Given the description of an element on the screen output the (x, y) to click on. 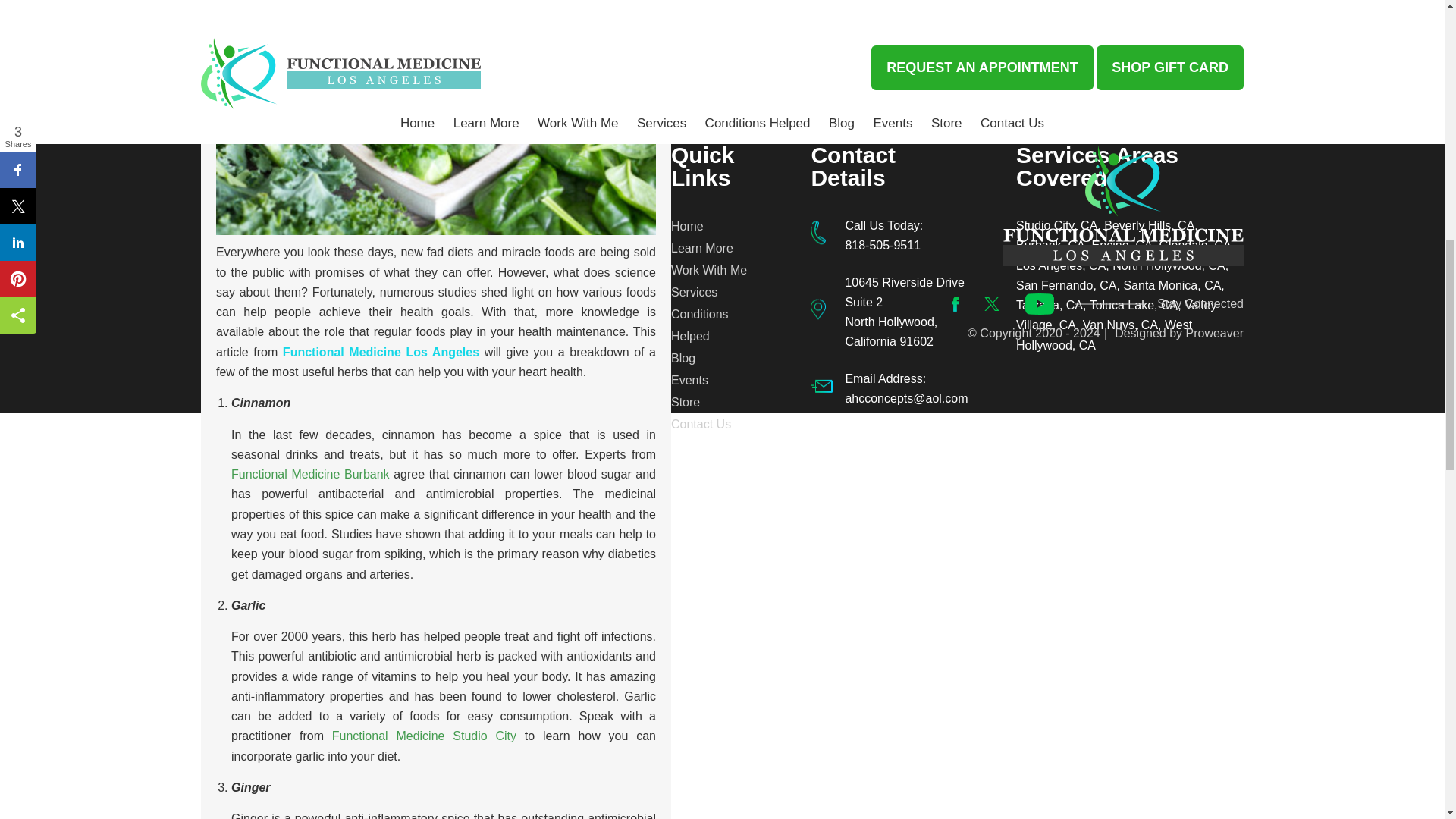
Services (718, 292)
Work With Me (718, 270)
Learn More (718, 248)
Functional Medicine Burbank (310, 473)
Functional Medicine Studio City (423, 735)
Home (718, 226)
